Given the description of an element on the screen output the (x, y) to click on. 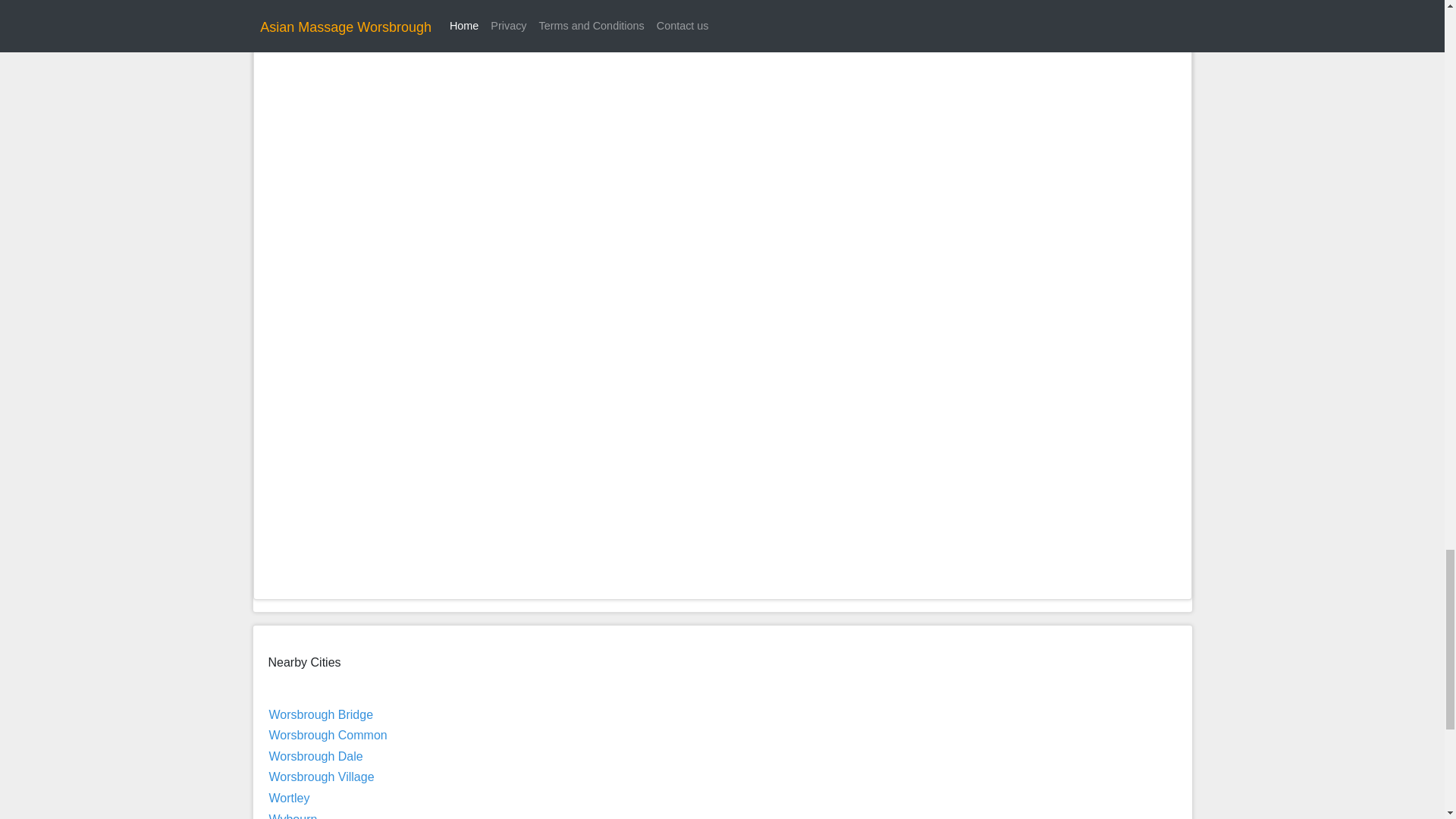
Worsbrough Village (320, 776)
Worsbrough Dale (314, 756)
Wortley (287, 797)
Worsbrough Bridge (319, 714)
Wybourn (292, 816)
Worsbrough Common (327, 735)
